Given the description of an element on the screen output the (x, y) to click on. 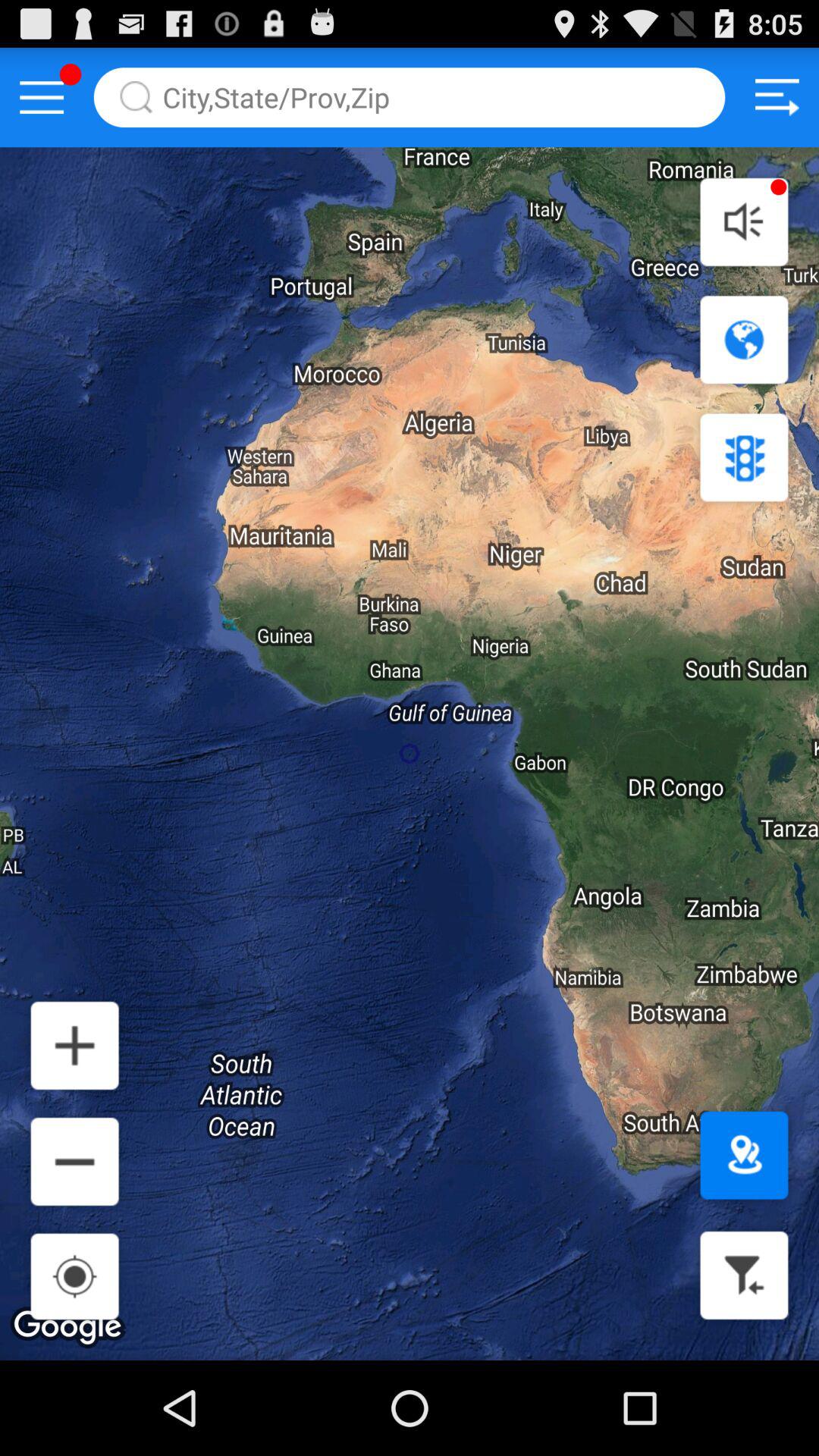
click voice navigation (744, 221)
